Given the description of an element on the screen output the (x, y) to click on. 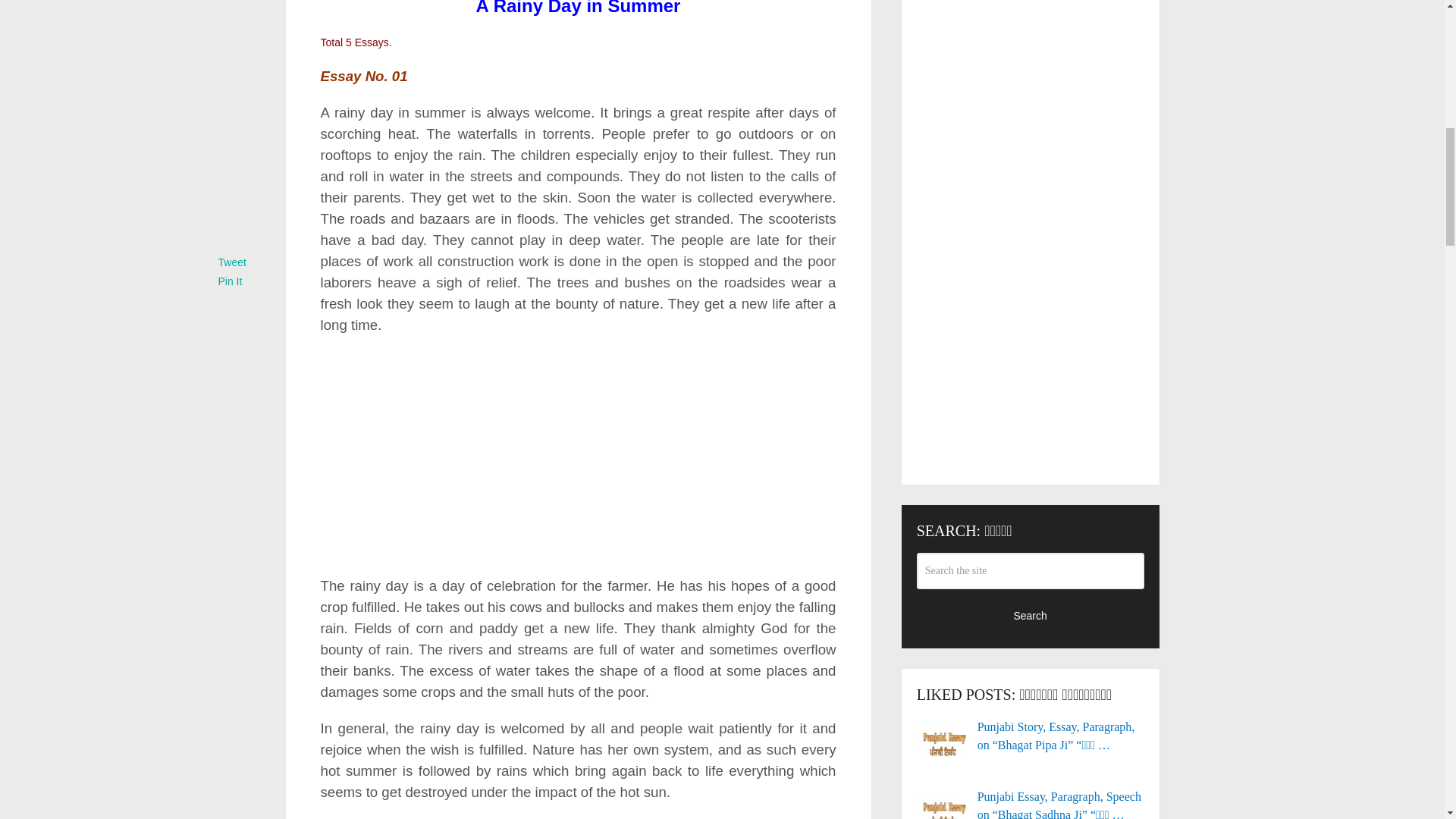
Advertisement (576, 457)
